Given the description of an element on the screen output the (x, y) to click on. 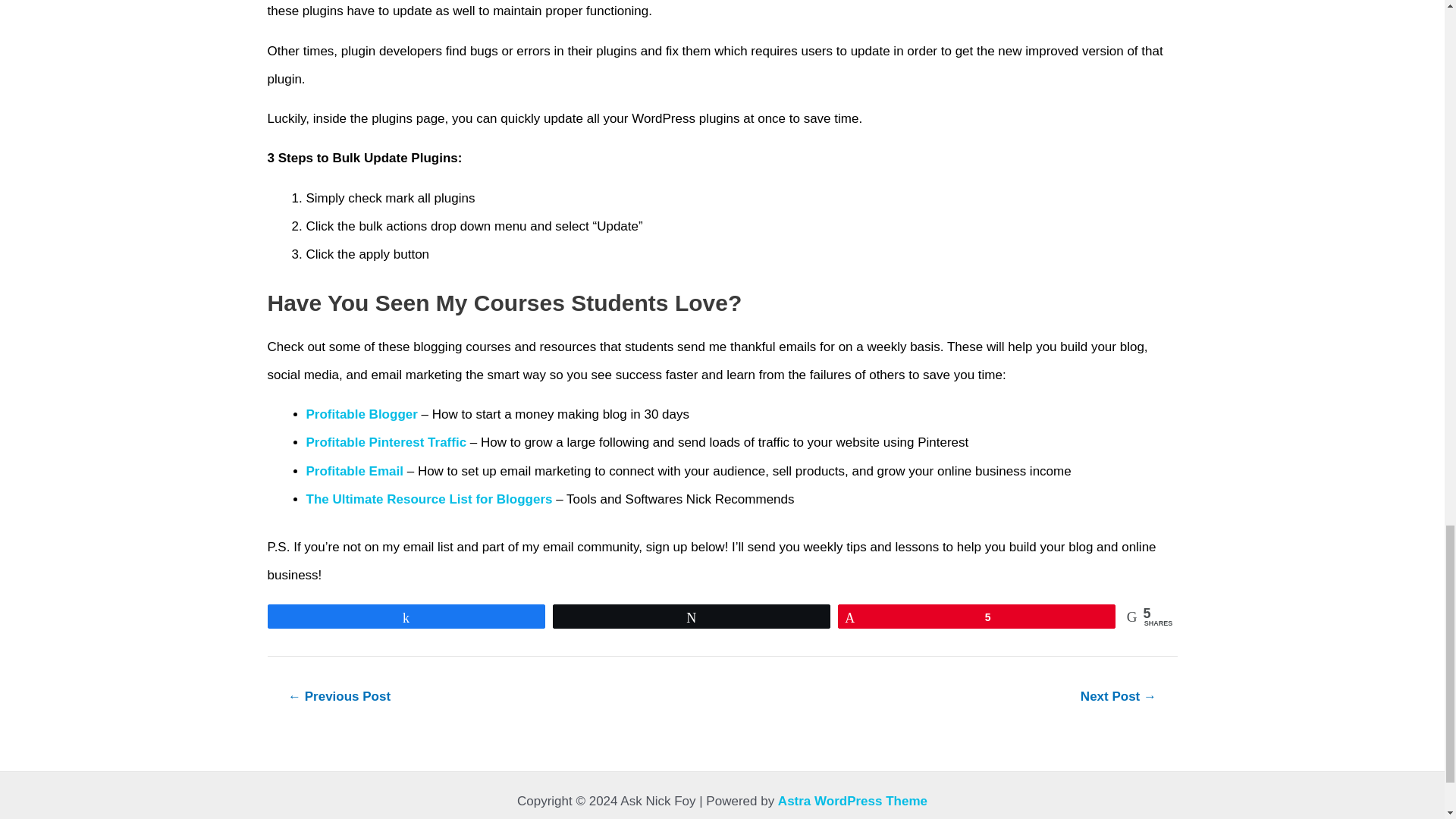
5 WordPress Plugins Every Blogger Needs (1117, 696)
How to Be Successful on Pinterest (338, 696)
5 (976, 616)
Astra WordPress Theme (852, 800)
Profitable Blogger (361, 414)
Profitable Email (354, 471)
Profitable Pinterest Traffic (386, 441)
The Ultimate Resource List for Bloggers (429, 499)
